Given the description of an element on the screen output the (x, y) to click on. 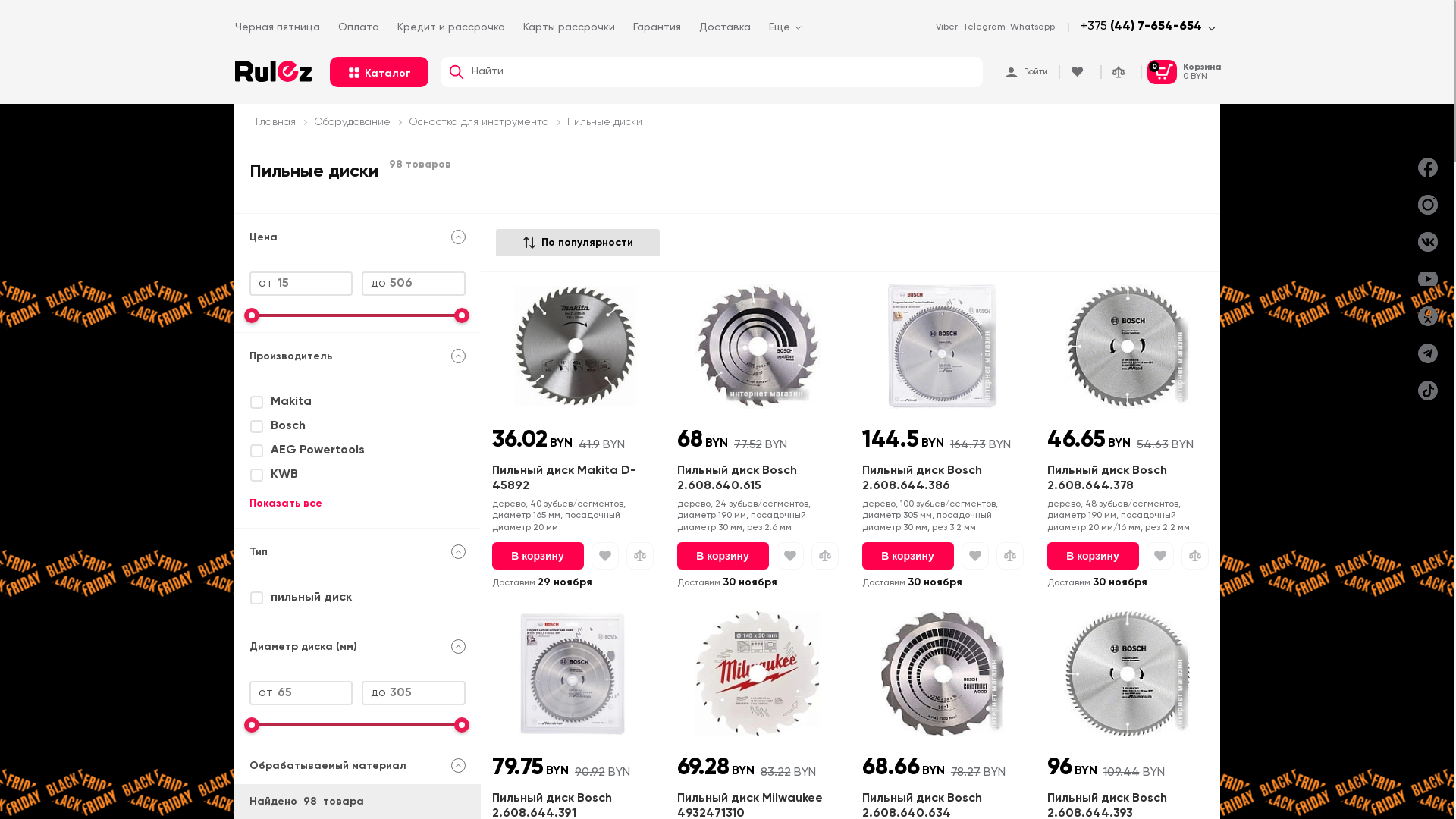
+375 (44) 7-654-654 Element type: text (1140, 26)
Y Element type: text (4, 4)
Whatsapp Element type: text (1032, 26)
Telegram Element type: text (983, 26)
Viber Element type: text (946, 26)
